Given the description of an element on the screen output the (x, y) to click on. 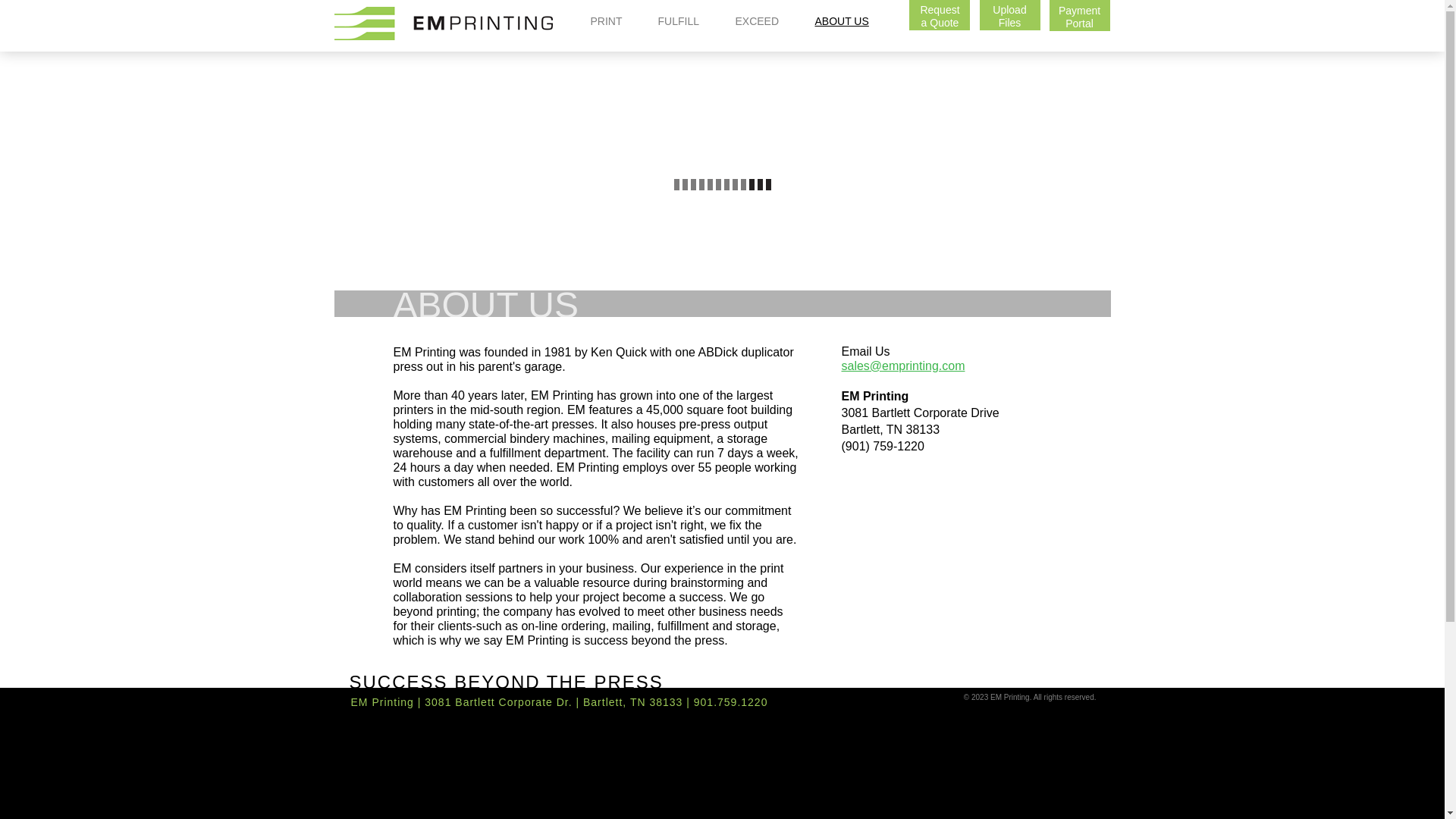
Upload via our FTP portal (1010, 15)
EXCEED (757, 22)
Upload via our FTP portal (1079, 15)
Upload via our FTP portal (1010, 16)
PRINT (1010, 16)
FULFILL (607, 22)
Upload via our FTP portal (1079, 17)
ABOUT US (679, 22)
Home (1079, 17)
